Given the description of an element on the screen output the (x, y) to click on. 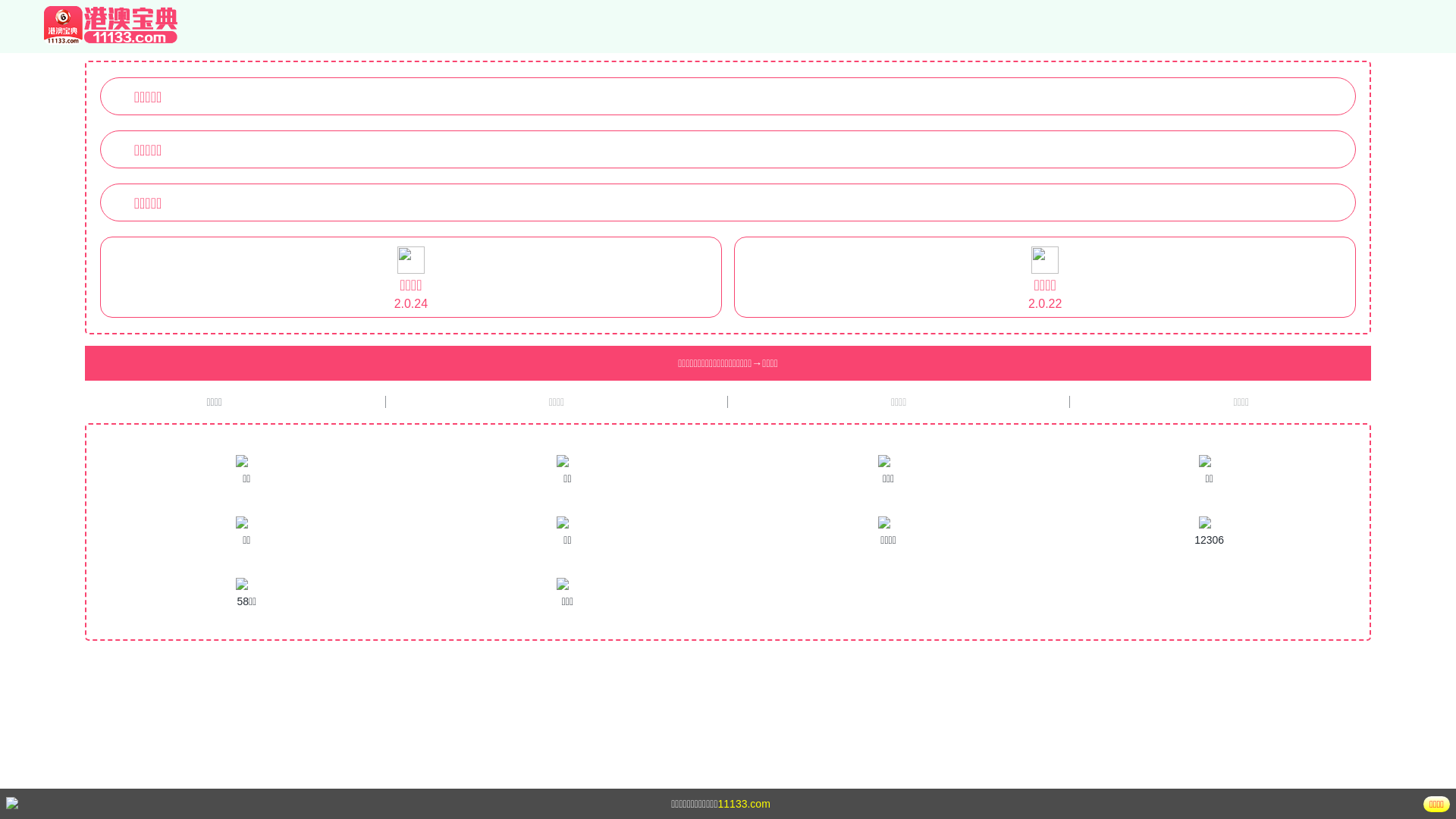
12306 Element type: text (1208, 531)
